Given the description of an element on the screen output the (x, y) to click on. 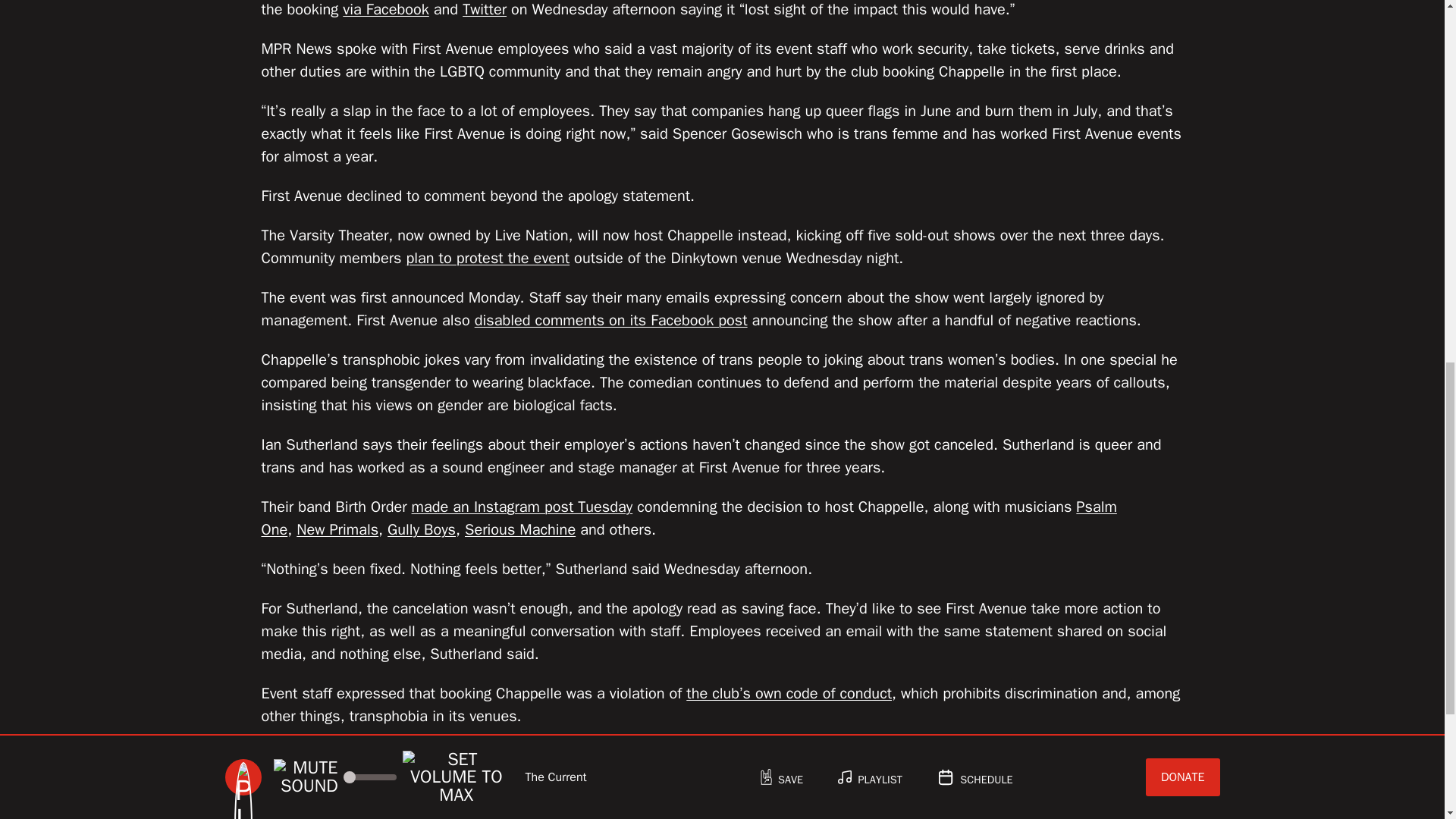
disabled comments on its Facebook post (611, 320)
New Primals (337, 529)
Twitter (484, 9)
made an Instagram post Tuesday (522, 506)
Gully Boys (421, 529)
Psalm One (688, 517)
via Facebook (385, 9)
Serious Machine (519, 529)
plan to protest the event (487, 257)
